Given the description of an element on the screen output the (x, y) to click on. 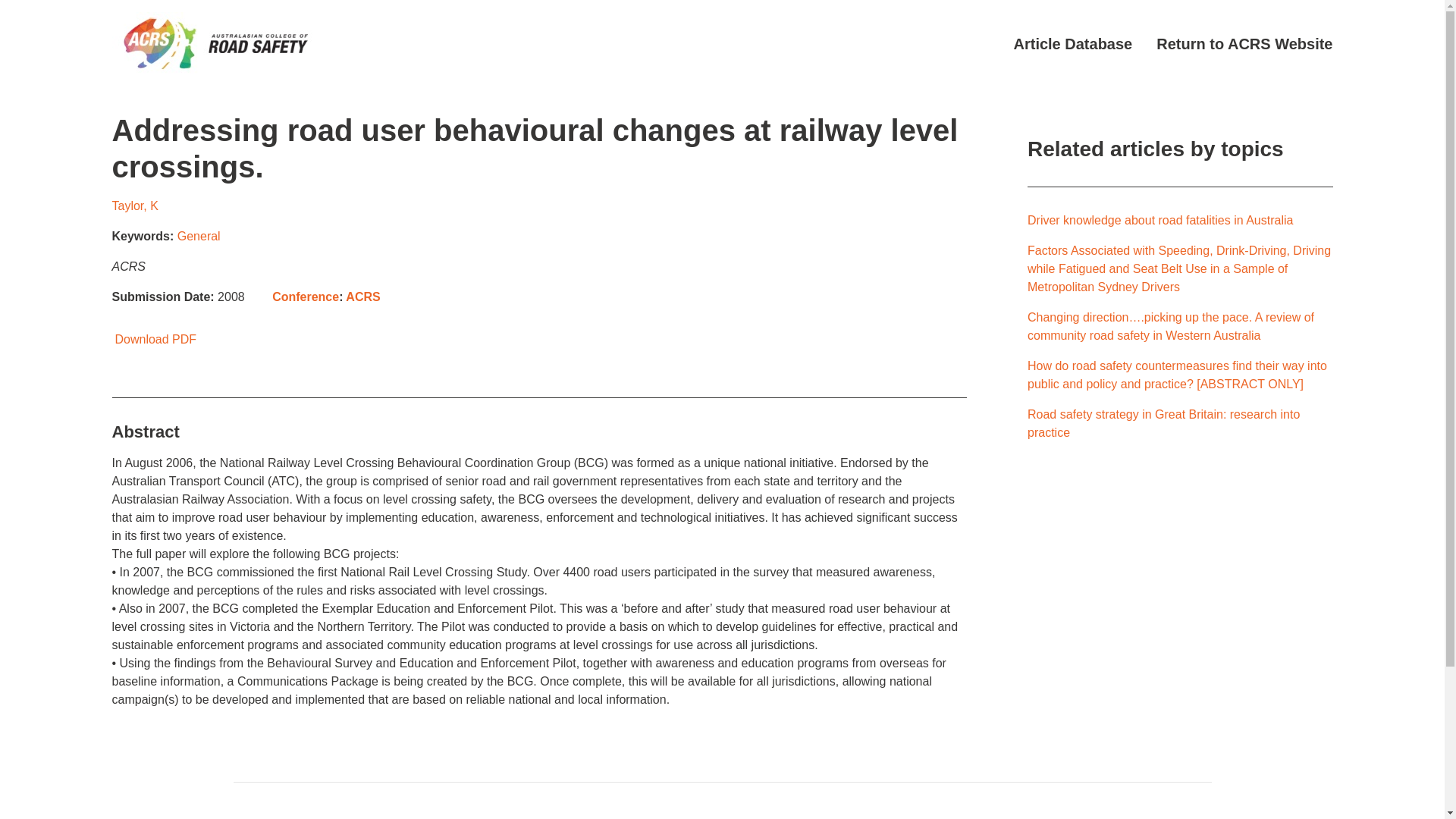
Download PDF (154, 338)
Return to ACRS Website (1244, 43)
Article Database (1072, 43)
Taylor, K (135, 205)
Driver knowledge about road fatalities in Australia (1159, 219)
ACRS (363, 296)
General (199, 236)
Conference (305, 296)
